Given the description of an element on the screen output the (x, y) to click on. 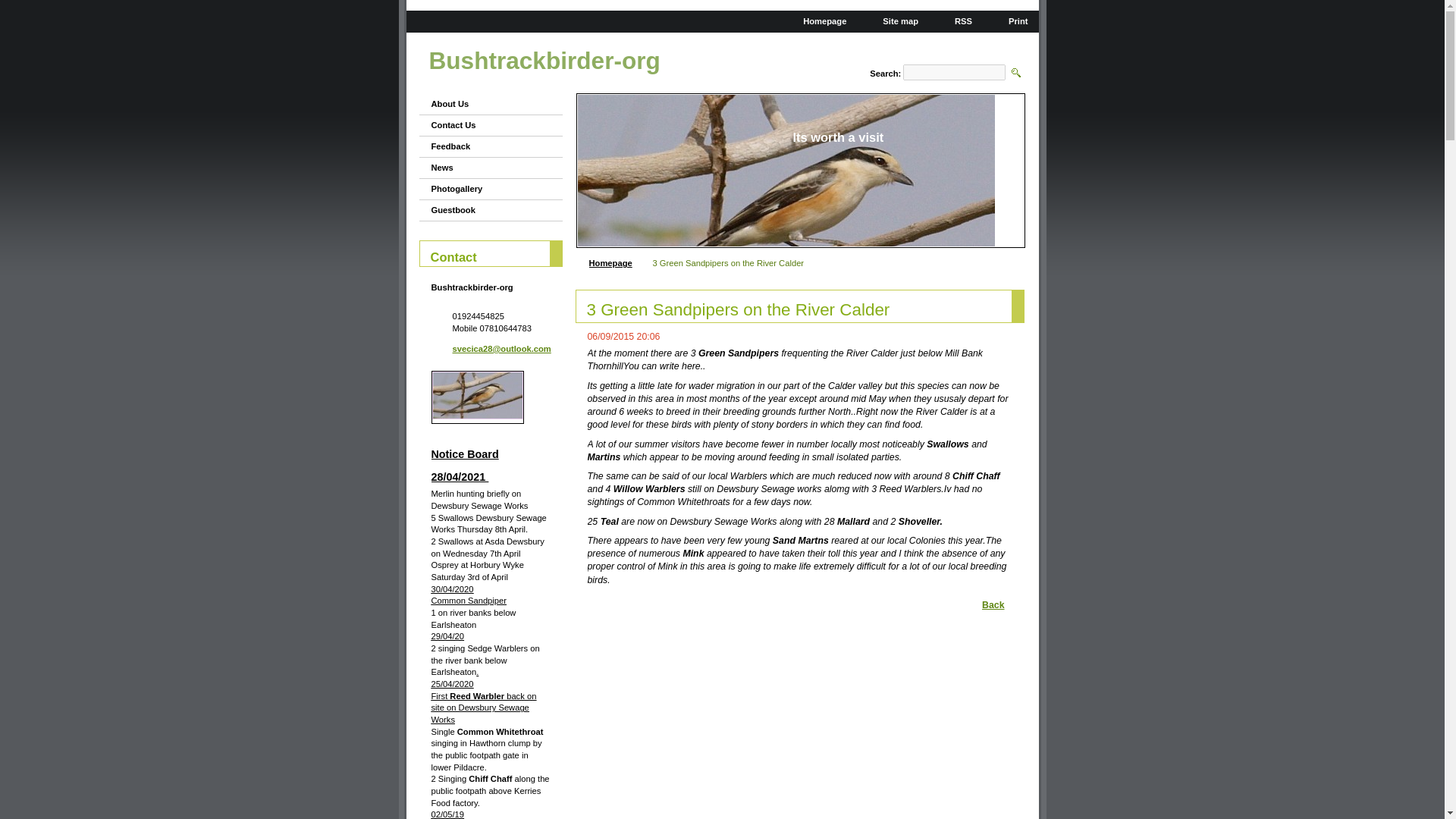
Go to Homepage. (817, 20)
RSS (957, 20)
RSS Feeds (957, 20)
Go to Homepage. (545, 60)
About Us (483, 104)
Bushtrackbirder-org (545, 60)
Contact Us (483, 125)
Back (989, 604)
Go to site map. (894, 20)
Homepage (609, 262)
